Given the description of an element on the screen output the (x, y) to click on. 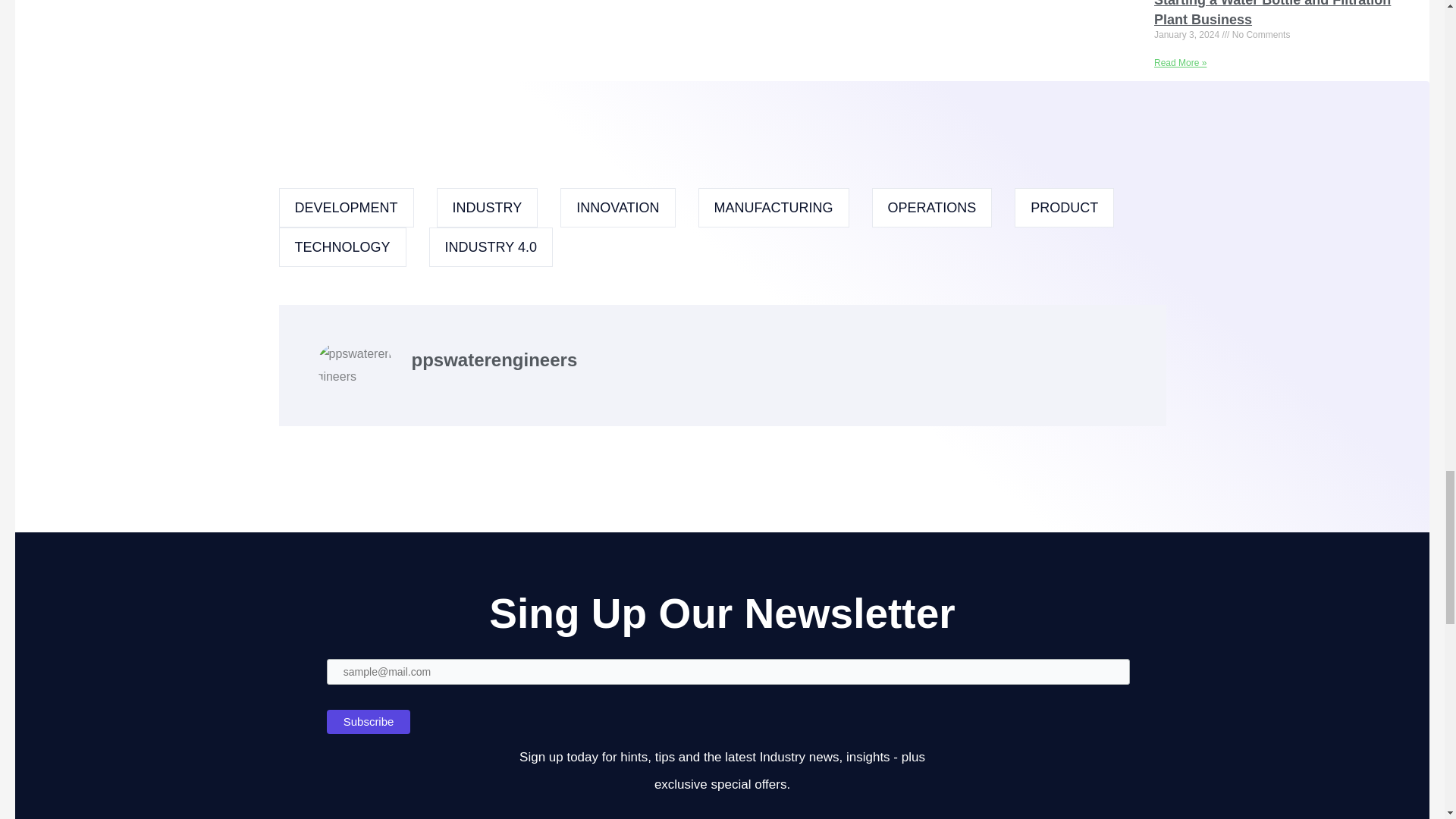
Subscribe (368, 721)
